Given the description of an element on the screen output the (x, y) to click on. 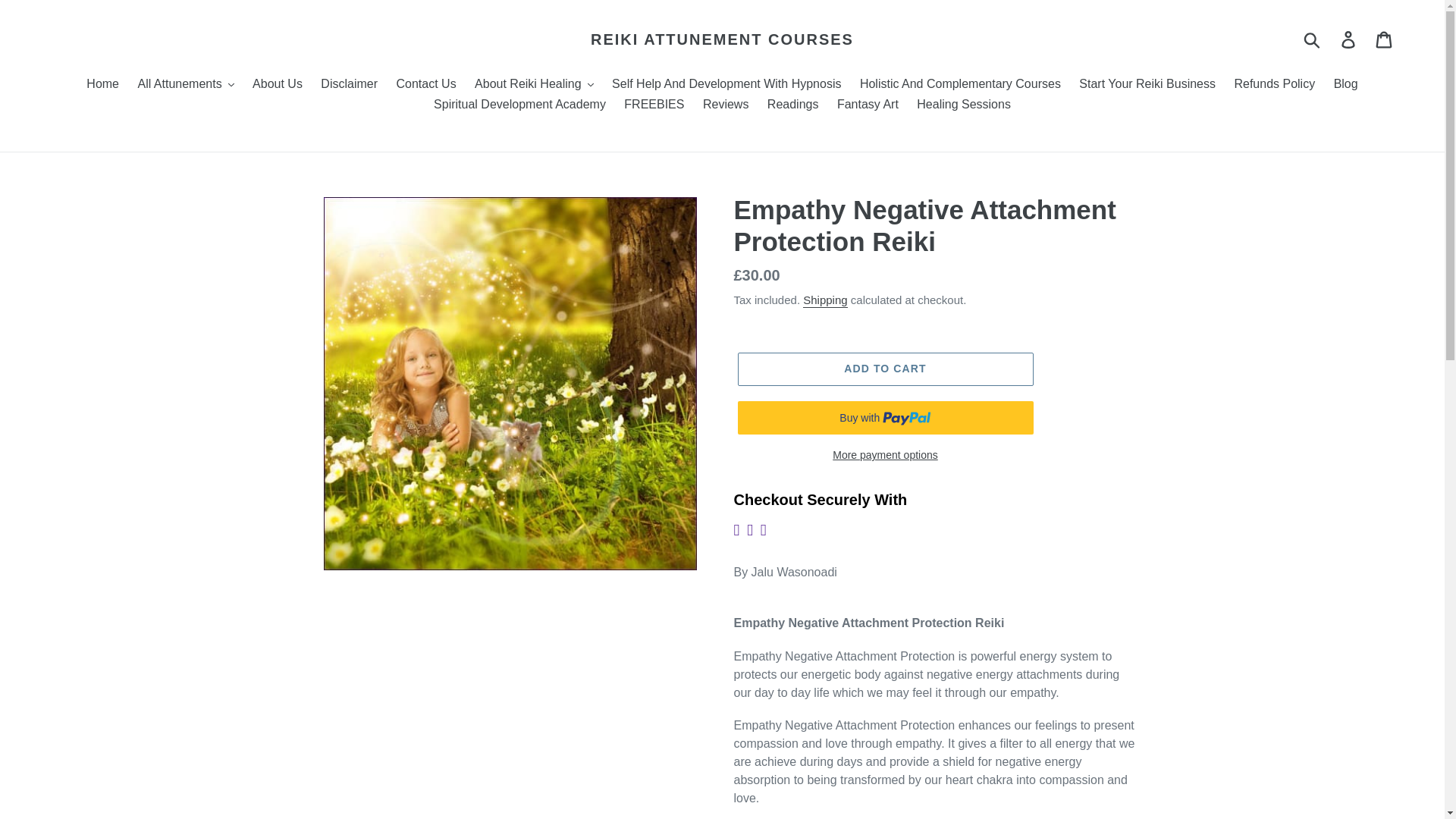
REIKI ATTUNEMENT COURSES (722, 39)
Contact Us (425, 85)
Cart (1385, 39)
Disclaimer (349, 85)
Home (102, 85)
Log in (1349, 39)
Submit (1313, 39)
About Us (277, 85)
